Given the description of an element on the screen output the (x, y) to click on. 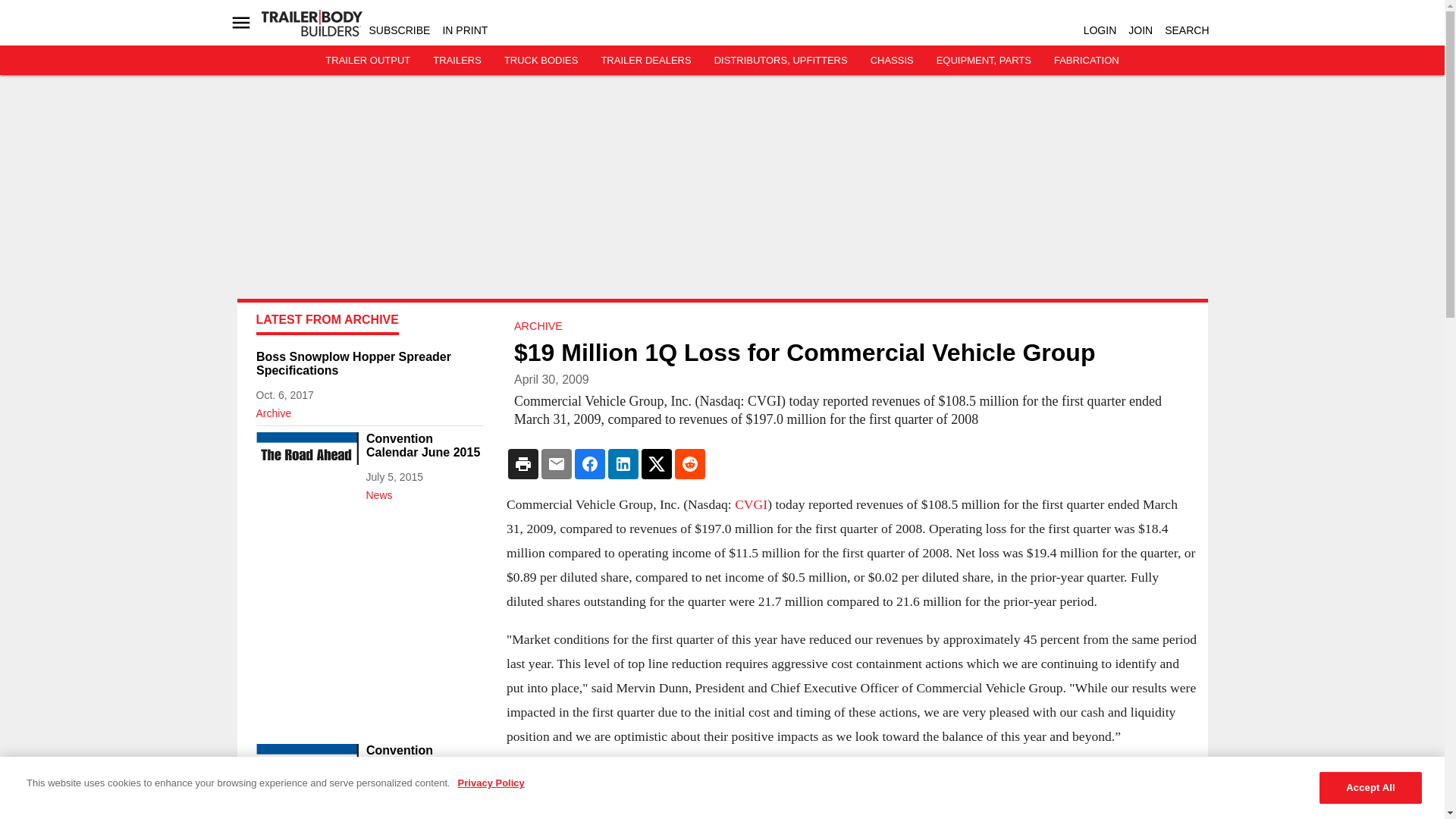
FABRICATION (1086, 60)
IN PRINT (464, 30)
TRAILER OUTPUT (367, 60)
LOGIN (1099, 30)
Image (307, 460)
TRAILERS (456, 60)
JOIN (1140, 30)
CHASSIS (892, 60)
DISTRIBUTORS, UPFITTERS (780, 60)
Image (307, 771)
SEARCH (1186, 30)
TRUCK BODIES (540, 60)
3rd party ad content (369, 622)
Archive (369, 410)
